Given the description of an element on the screen output the (x, y) to click on. 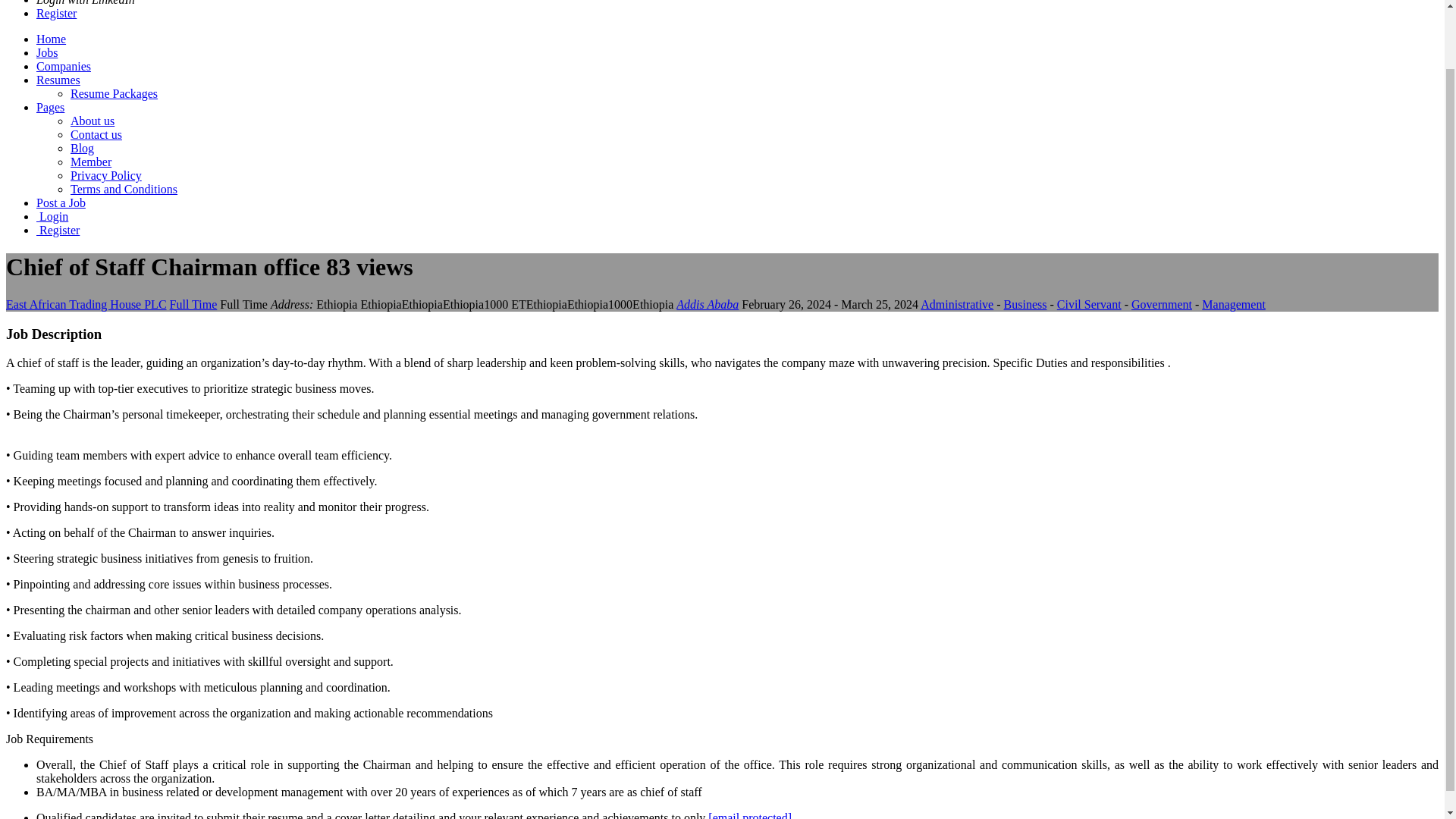
 Register (58, 229)
Register (56, 12)
Pages (50, 106)
Government (1161, 304)
Administrative (956, 304)
Member (90, 161)
Terms and Conditions (123, 188)
Resume Packages (113, 92)
Blog (81, 147)
Home (50, 38)
East African Trading House PLC (86, 304)
Contact us (95, 133)
About us (92, 120)
Management (1233, 304)
Resumes (58, 79)
